Given the description of an element on the screen output the (x, y) to click on. 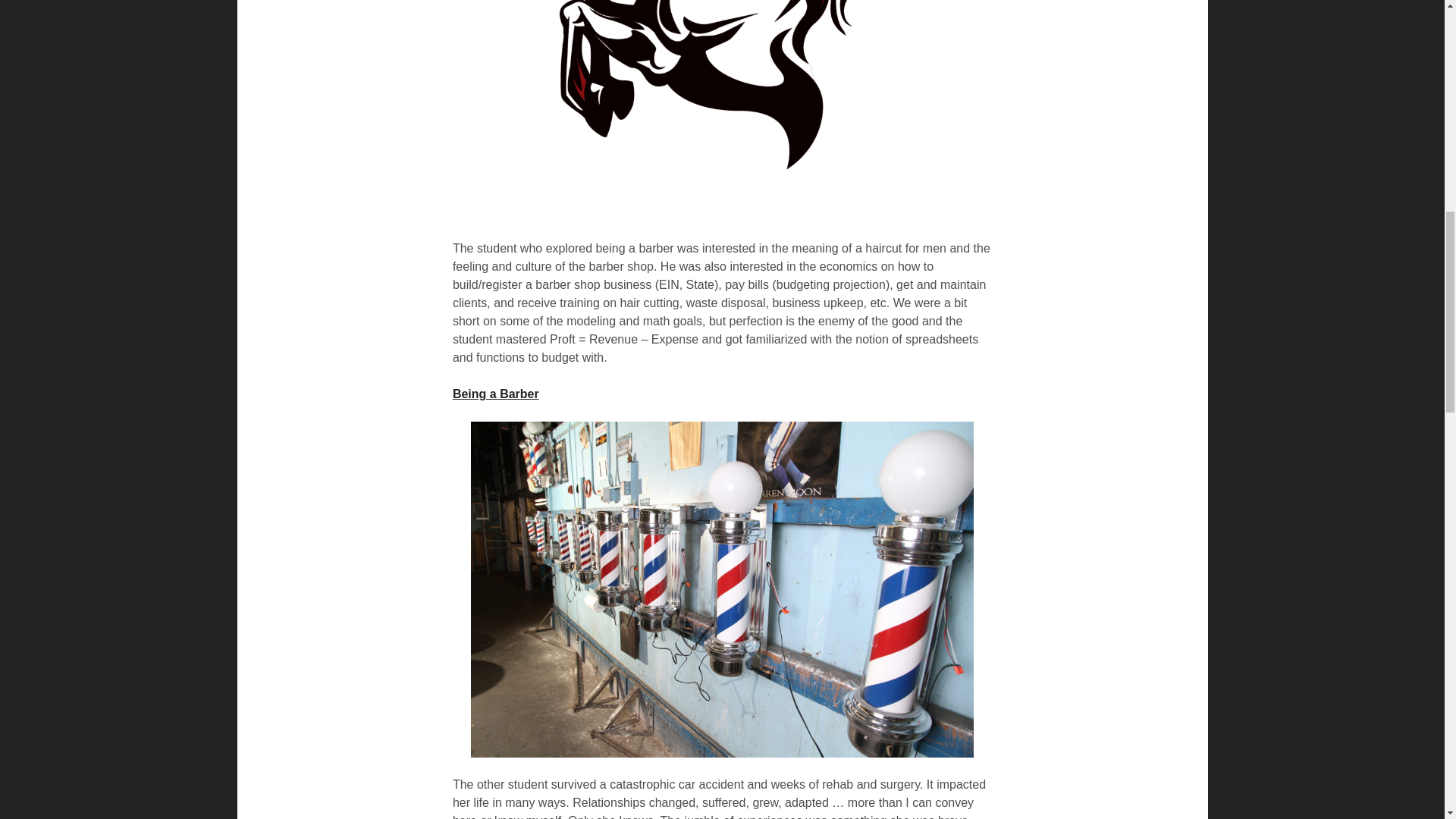
Being a Barber (495, 393)
